Given the description of an element on the screen output the (x, y) to click on. 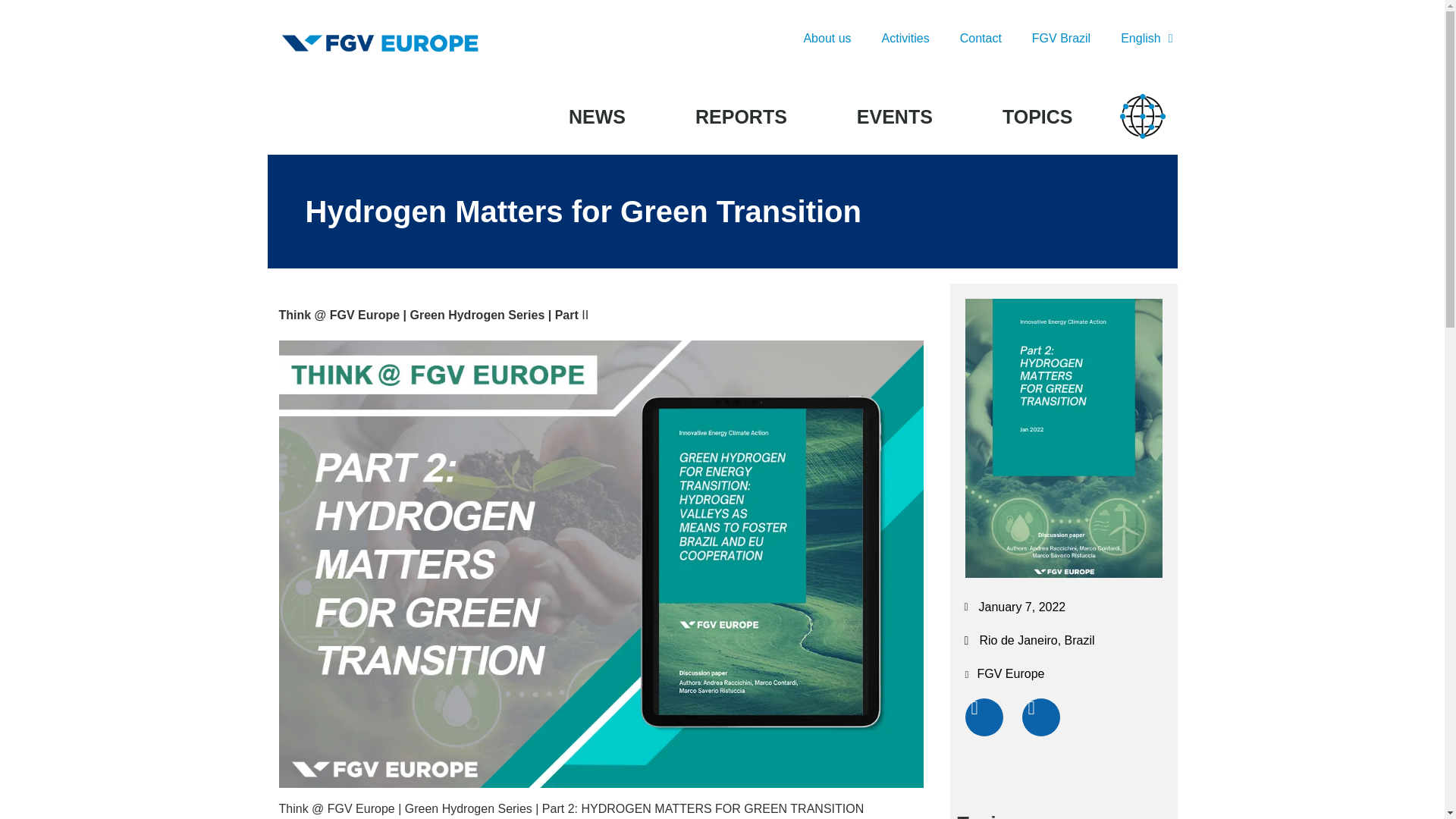
Activities (905, 38)
REPORTS (741, 116)
About us (826, 38)
NEWS (597, 116)
FGV Brazil (1060, 38)
Contact (980, 38)
Hydrogen Matters for Green Transition (1062, 573)
English (1146, 38)
